Given the description of an element on the screen output the (x, y) to click on. 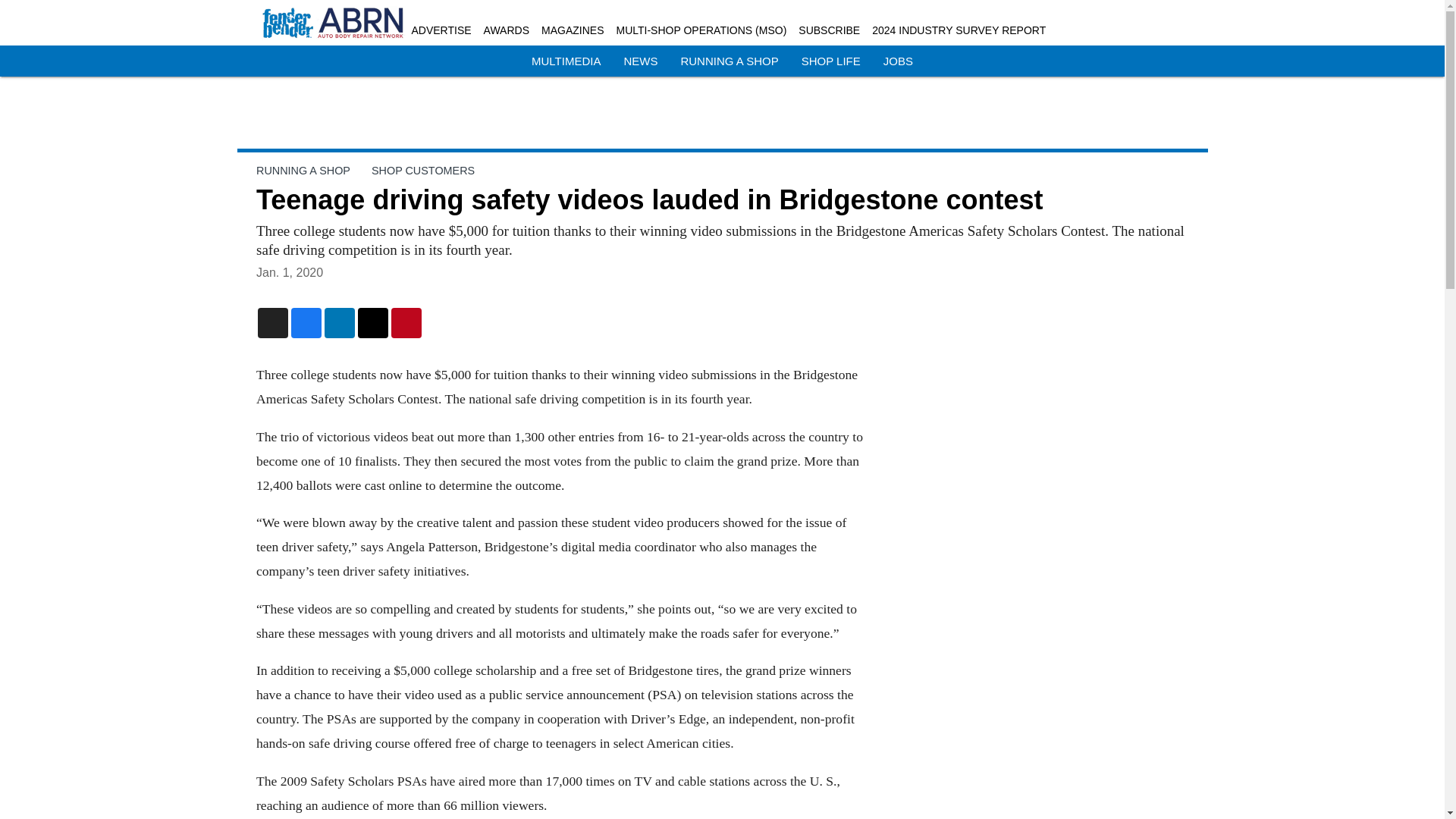
SUBSCRIBE (828, 30)
NEWS (640, 60)
AWARDS (506, 30)
SHOP LIFE (831, 60)
JOBS (897, 60)
MULTIMEDIA (565, 60)
RUNNING A SHOP (728, 60)
RUNNING A SHOP (303, 170)
ADVERTISE (440, 30)
SHOP CUSTOMERS (422, 170)
